Given the description of an element on the screen output the (x, y) to click on. 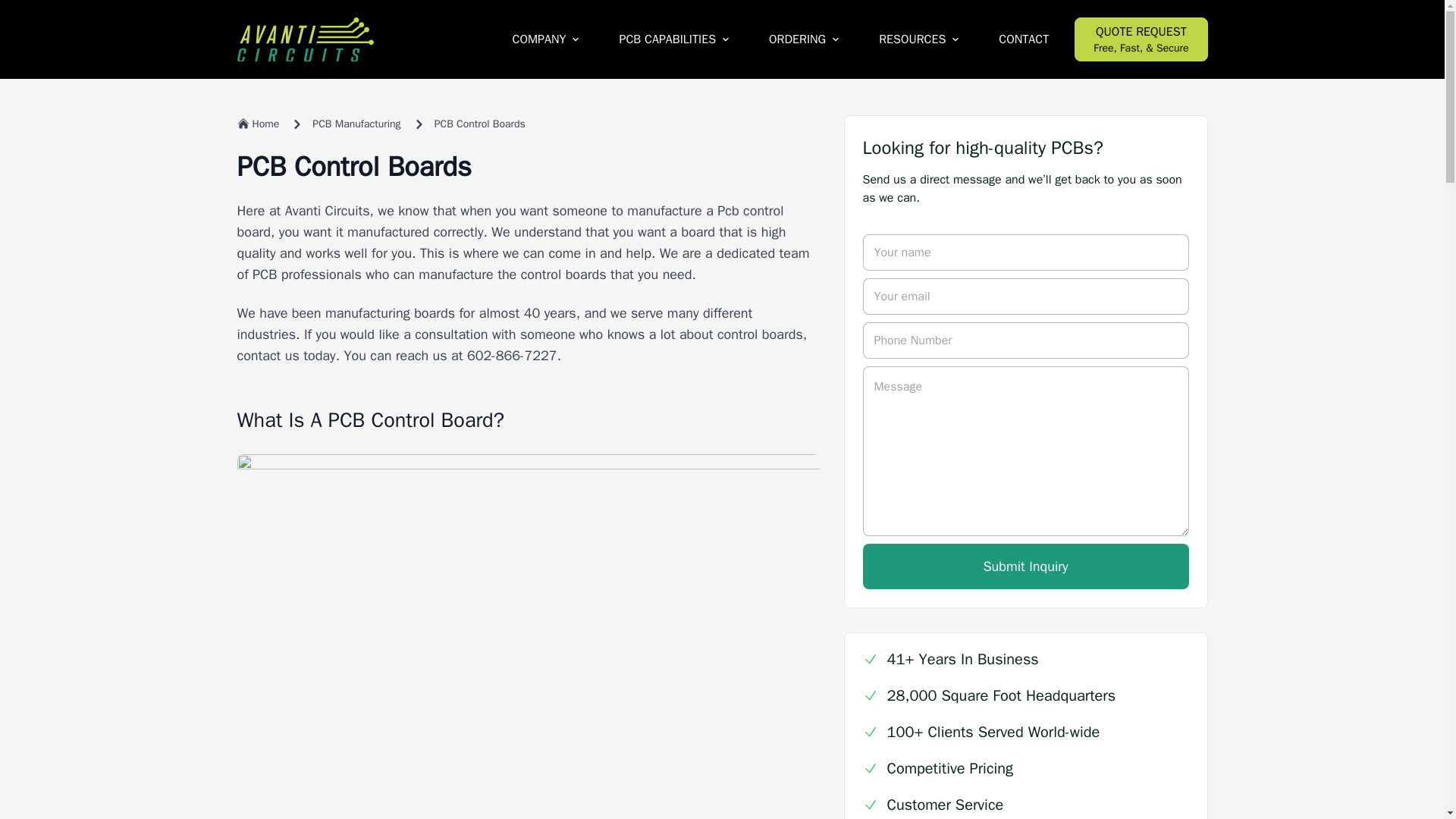
RESOURCES (918, 39)
COMPANY (546, 39)
Home (257, 124)
Submit Inquiry (1026, 565)
PCB CAPABILITIES (673, 39)
CONTACT (1023, 39)
ORDERING (804, 39)
PCB Manufacturing (356, 124)
